Given the description of an element on the screen output the (x, y) to click on. 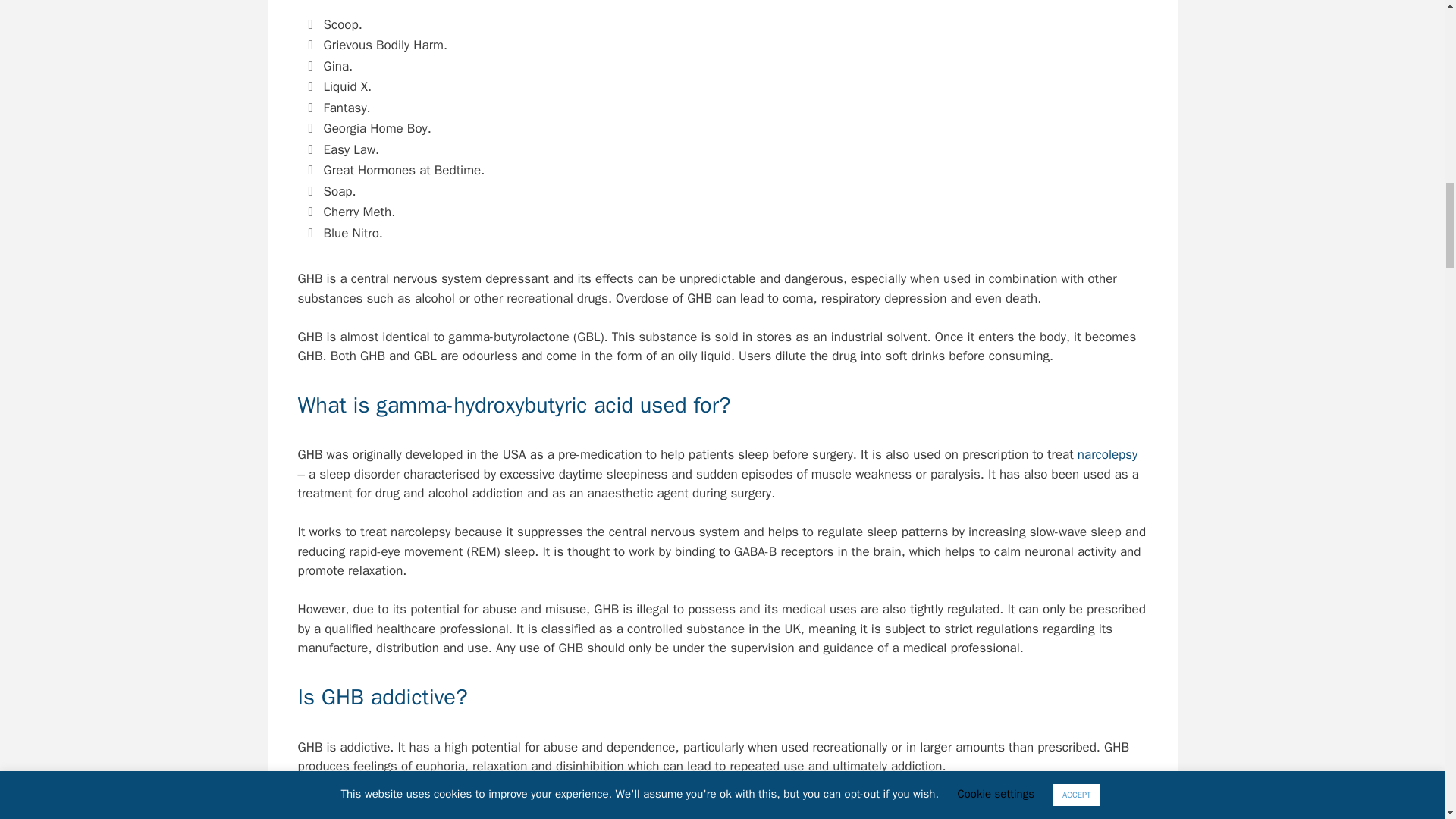
narcolepsy (1107, 454)
